Given the description of an element on the screen output the (x, y) to click on. 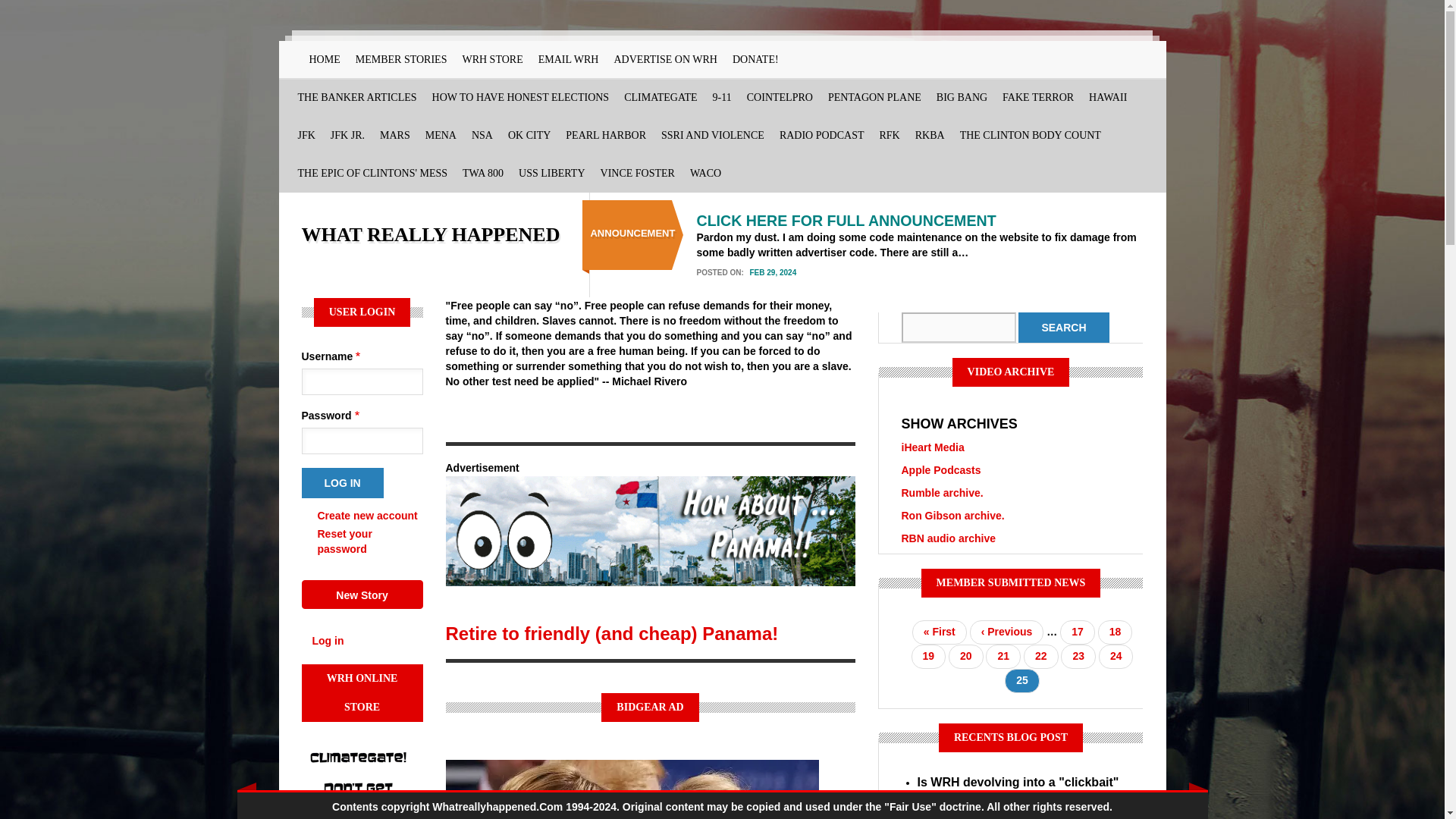
Home (430, 234)
ADVERTISE ON WRH (665, 59)
Go to first page (939, 631)
WRH STORE (491, 59)
THE BANKER ARTICLES (356, 97)
OK CITY (528, 135)
MARS (394, 135)
THE EPIC OF CLINTONS' MESS (371, 173)
9-11 (721, 97)
Log in (342, 482)
Create a new user account. (366, 515)
RADIO PODCAST (821, 135)
BIG BANG (961, 97)
MENA (440, 135)
TWA 800 (482, 173)
